Given the description of an element on the screen output the (x, y) to click on. 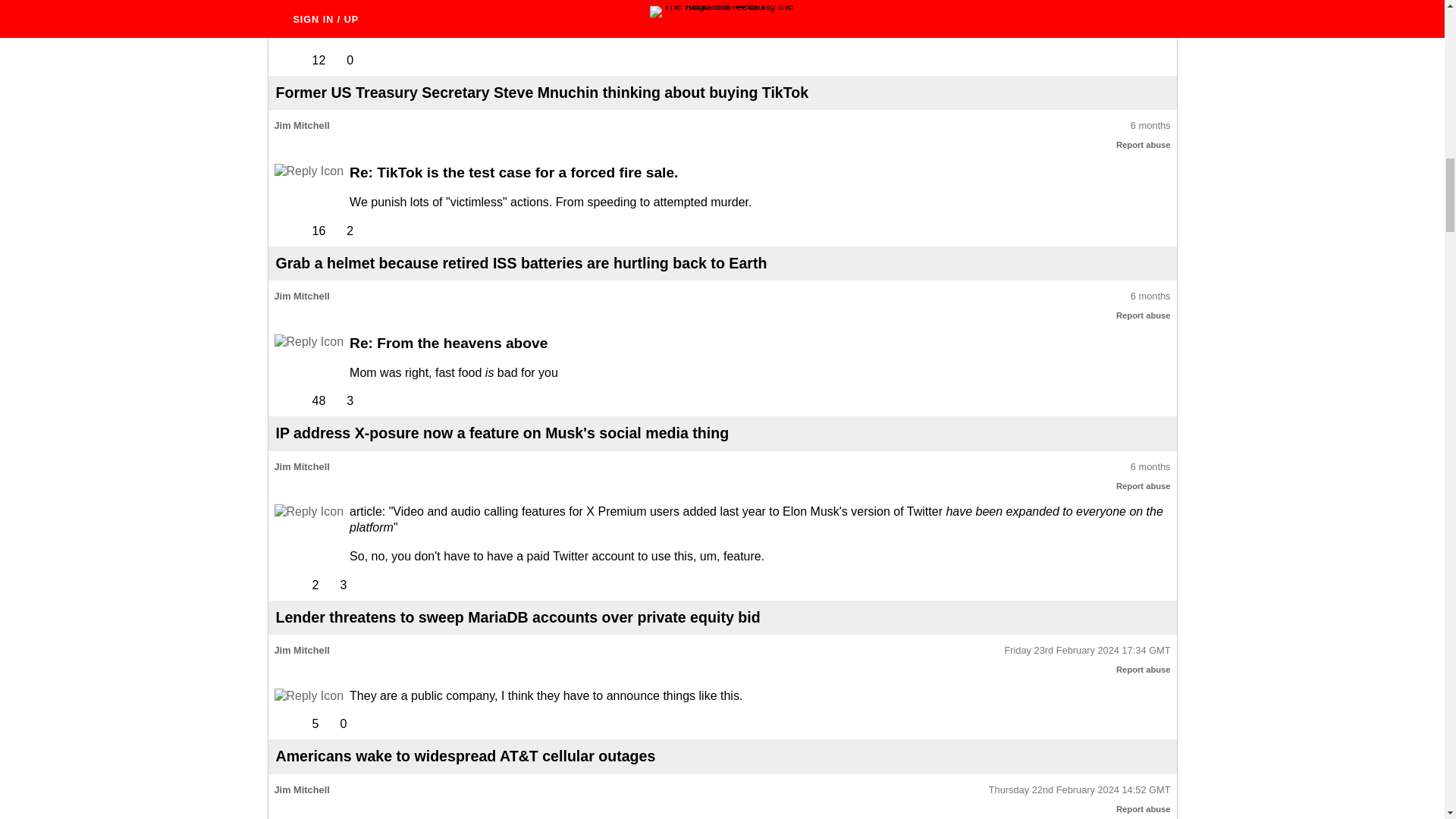
Report abuse (1143, 144)
Report abuse (1143, 484)
Report abuse (1143, 669)
Report abuse (1143, 809)
Report abuse (1143, 4)
Report abuse (1143, 315)
